Given the description of an element on the screen output the (x, y) to click on. 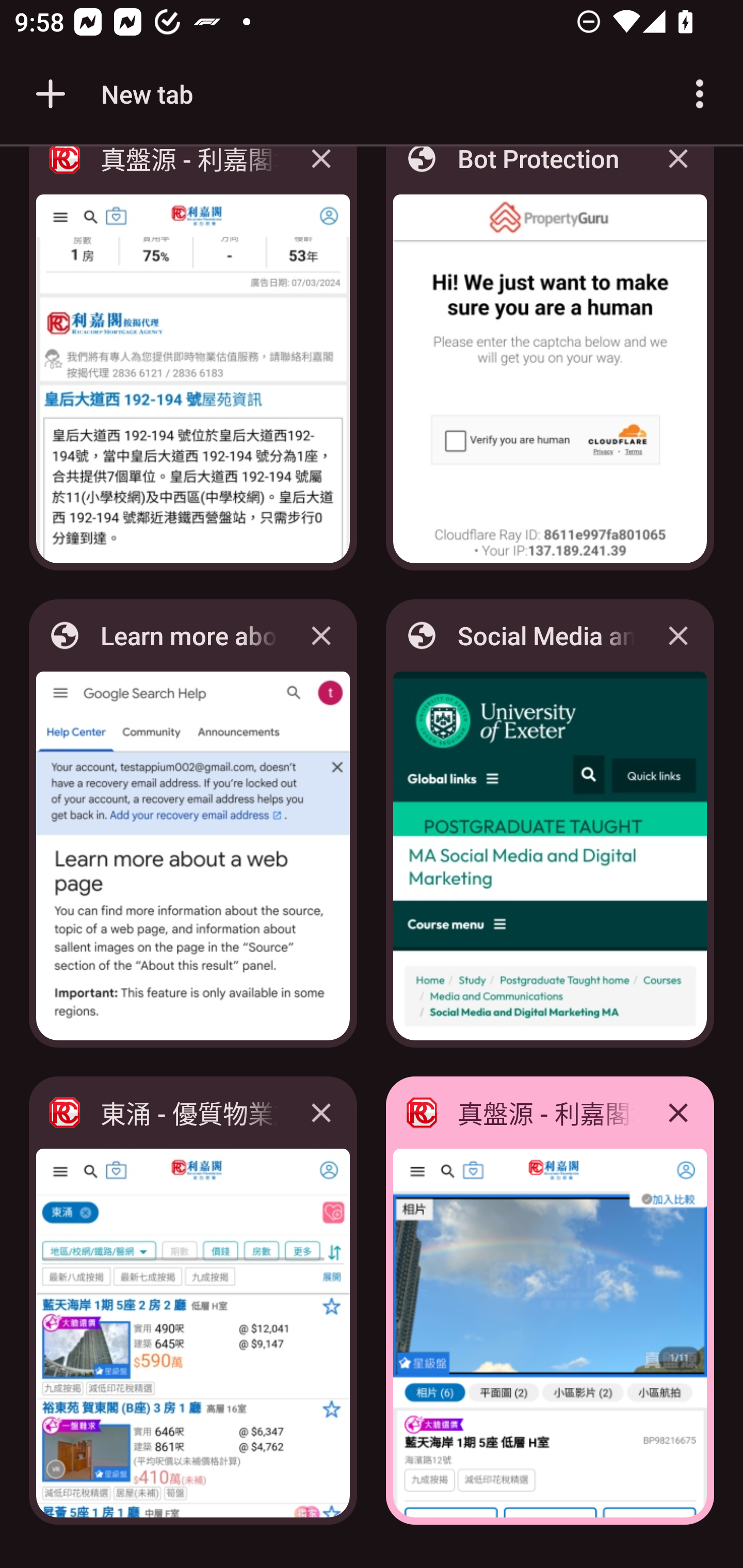
New tab (111, 93)
Customize and control Google Chrome (699, 93)
Close 真盤源 - 利嘉閣地產 - 中上環/西區 皇后大道西 192-194 號 tab (320, 173)
Close Bot Protection tab (677, 173)
Close 東涌 - 優質物業放售 | 東涌 | 二手售盤 - 利嘉閣地產 tab (320, 1112)
Close 真盤源 - 利嘉閣地產 - 東涌 藍天海岸 1期 5座 tab (677, 1112)
